Given the description of an element on the screen output the (x, y) to click on. 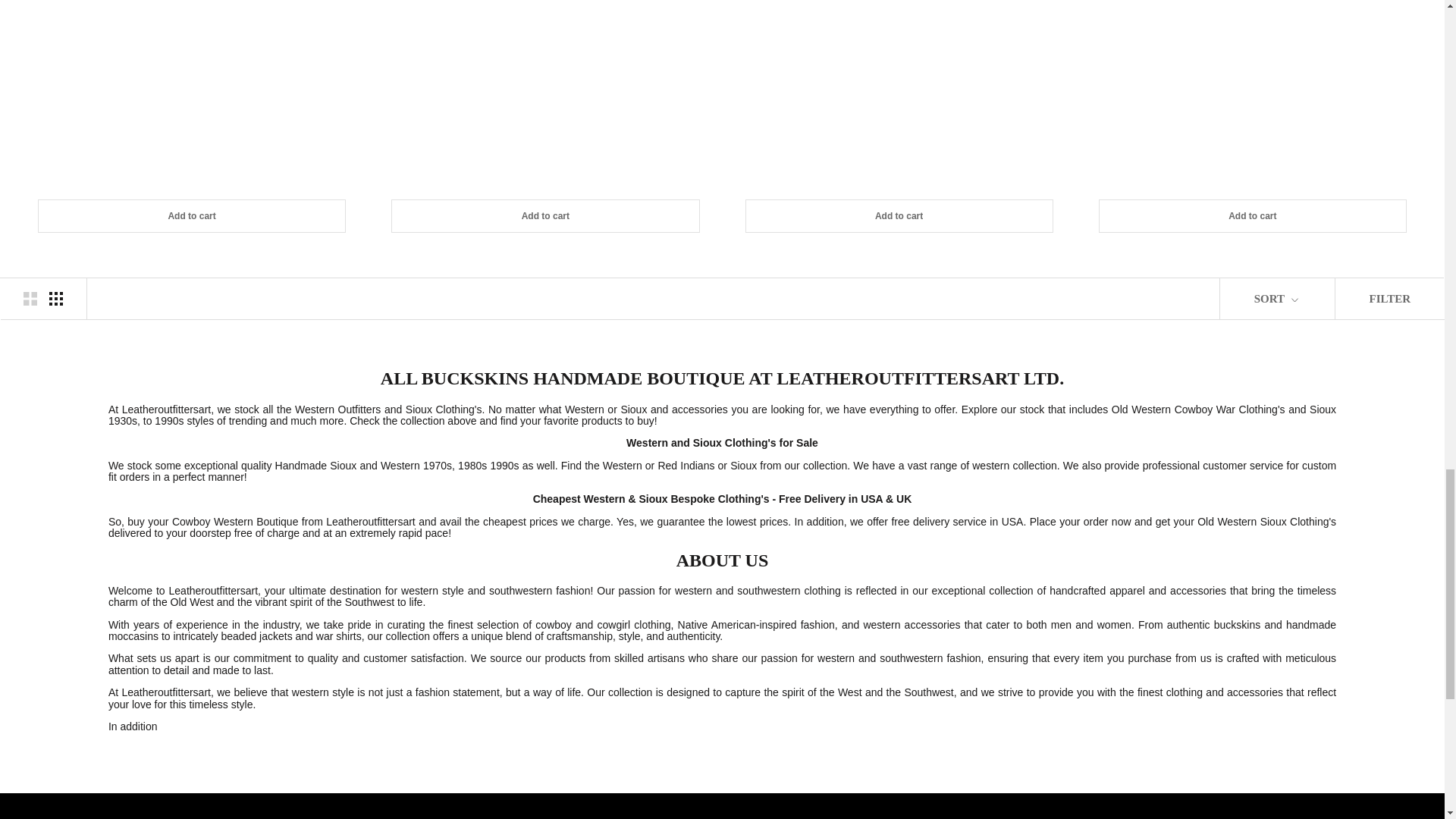
Add to cart (1252, 215)
Add to cart (191, 215)
Add to cart (545, 215)
Add to cart (899, 215)
